Given the description of an element on the screen output the (x, y) to click on. 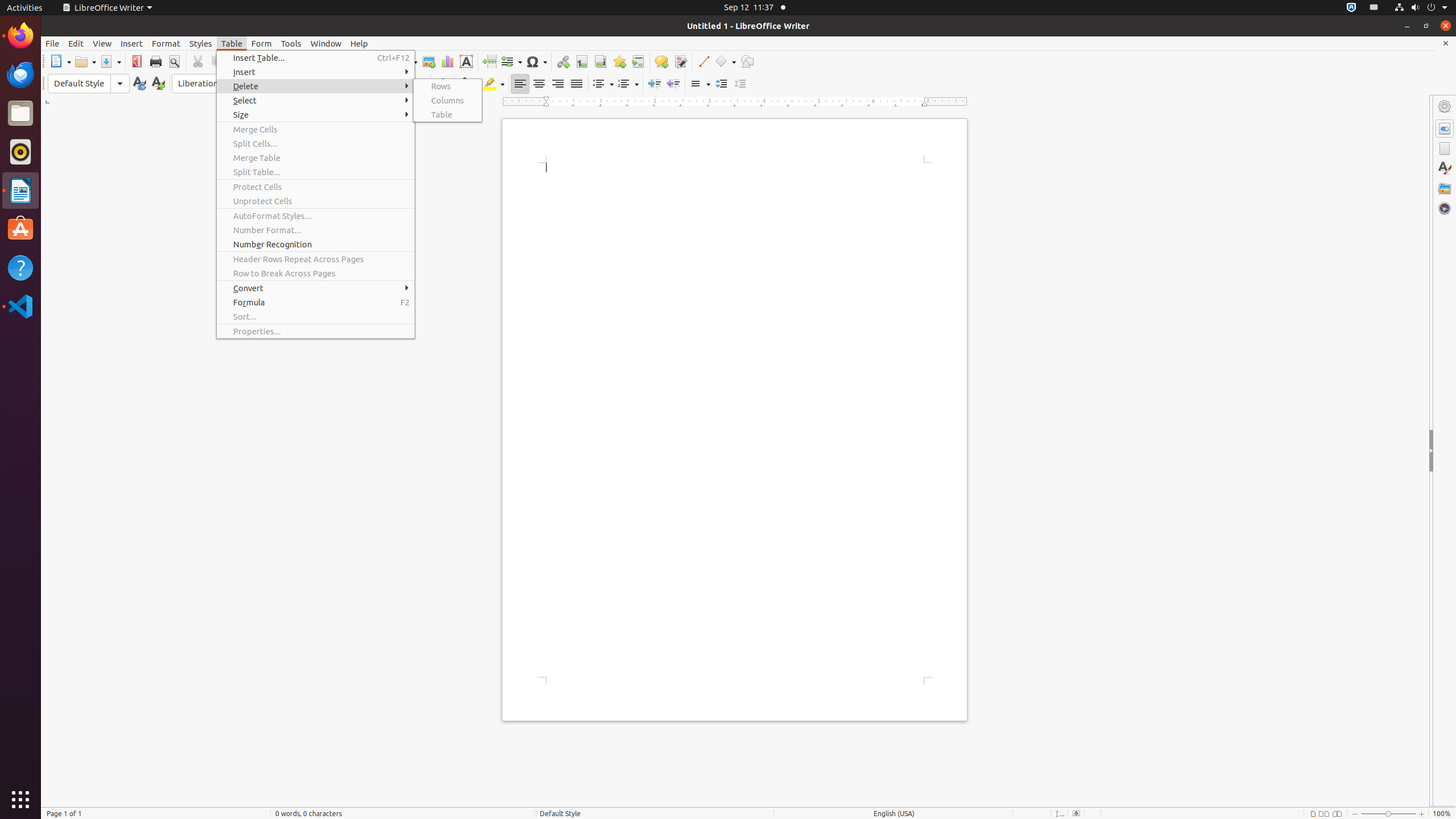
Protect Cells Element type: menu-item (315, 186)
Form Element type: menu (261, 43)
Paragraph Style Element type: combo-box (88, 83)
Center Element type: toggle-button (538, 83)
Window Element type: menu (325, 43)
